Given the description of an element on the screen output the (x, y) to click on. 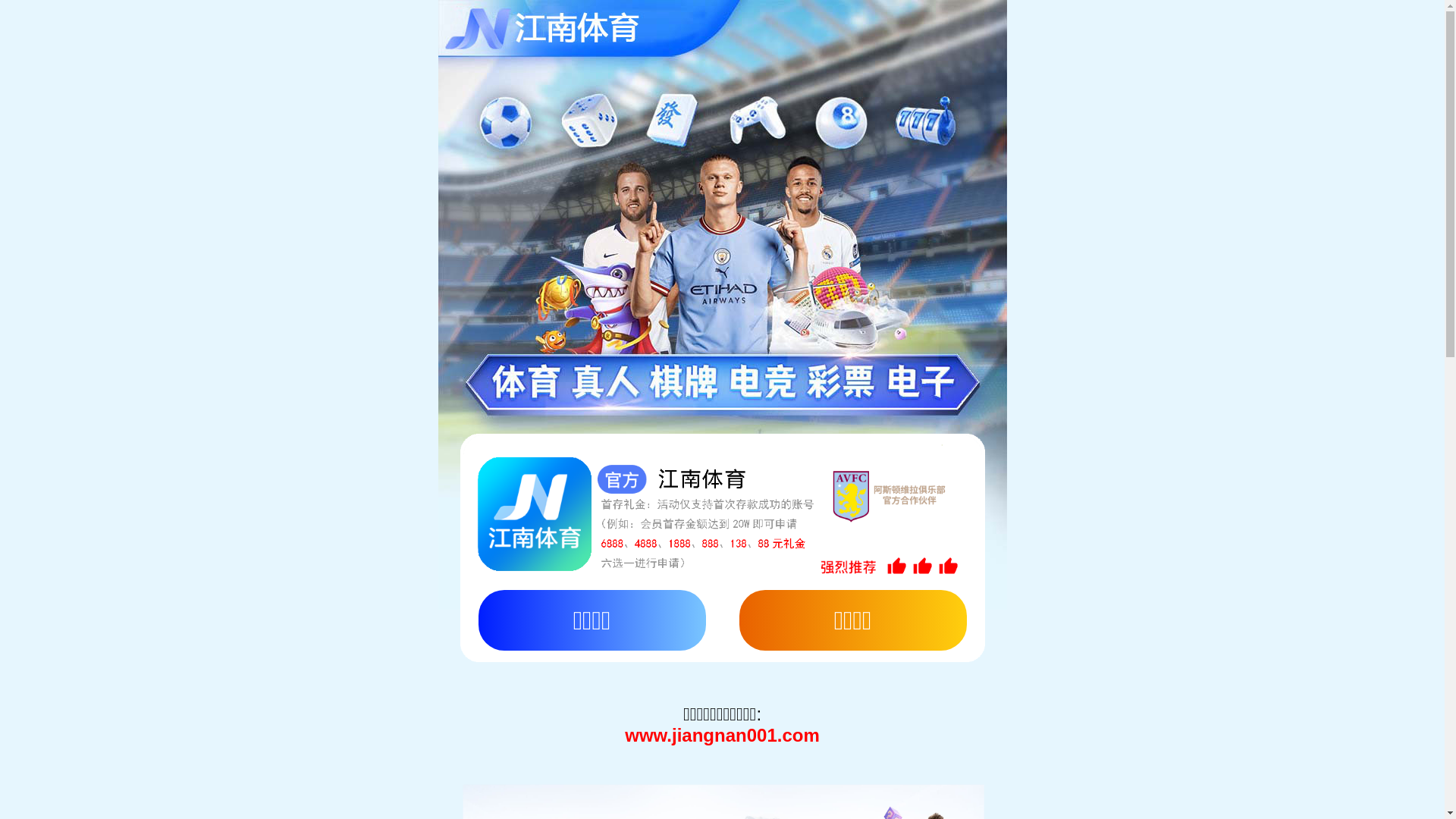
READ MORE Element type: text (1119, 592)
